Given the description of an element on the screen output the (x, y) to click on. 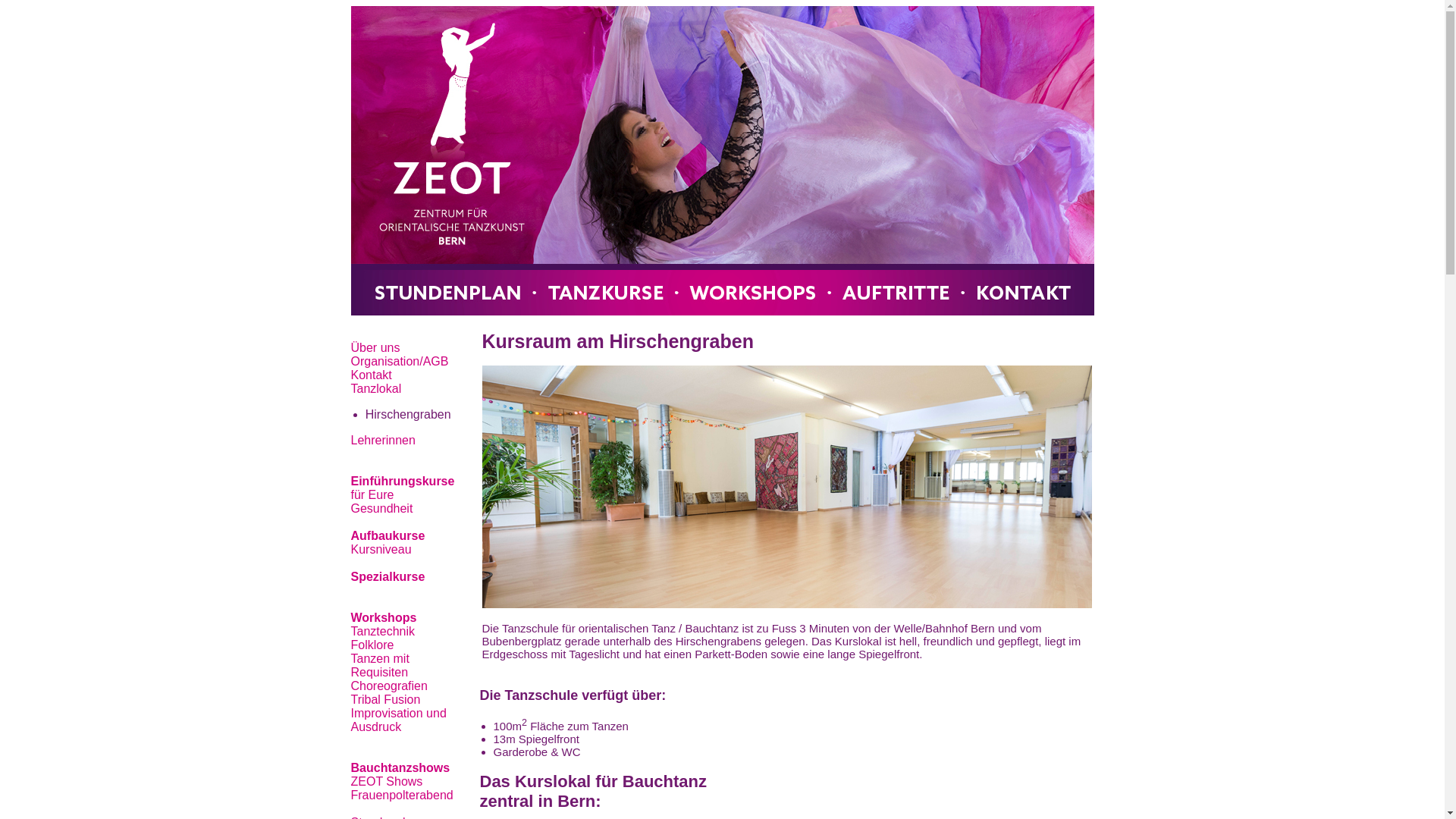
Spezialkurse Element type: text (387, 576)
Frauenpolterabend Element type: text (401, 794)
Lehrerinnen Element type: text (382, 439)
Bauchtanzshows Element type: text (399, 767)
Workshops Element type: text (383, 617)
Choreografien Element type: text (388, 685)
Organisation/AGB Element type: text (399, 360)
Tanzlokal Element type: text (375, 388)
Tribal Fusion Element type: text (385, 699)
Kontakt Element type: text (370, 374)
Folklore Element type: text (371, 644)
Bauchtanzkurse in Bern Element type: hover (721, 160)
ZEOT Shows Element type: text (386, 781)
Kursniveau Element type: text (380, 548)
Improvisation und Ausdruck Element type: text (397, 719)
Tanztechnik Element type: text (382, 630)
Tanzen mit Requisiten Element type: text (379, 665)
Aufbaukurse Element type: text (387, 535)
